Given the description of an element on the screen output the (x, y) to click on. 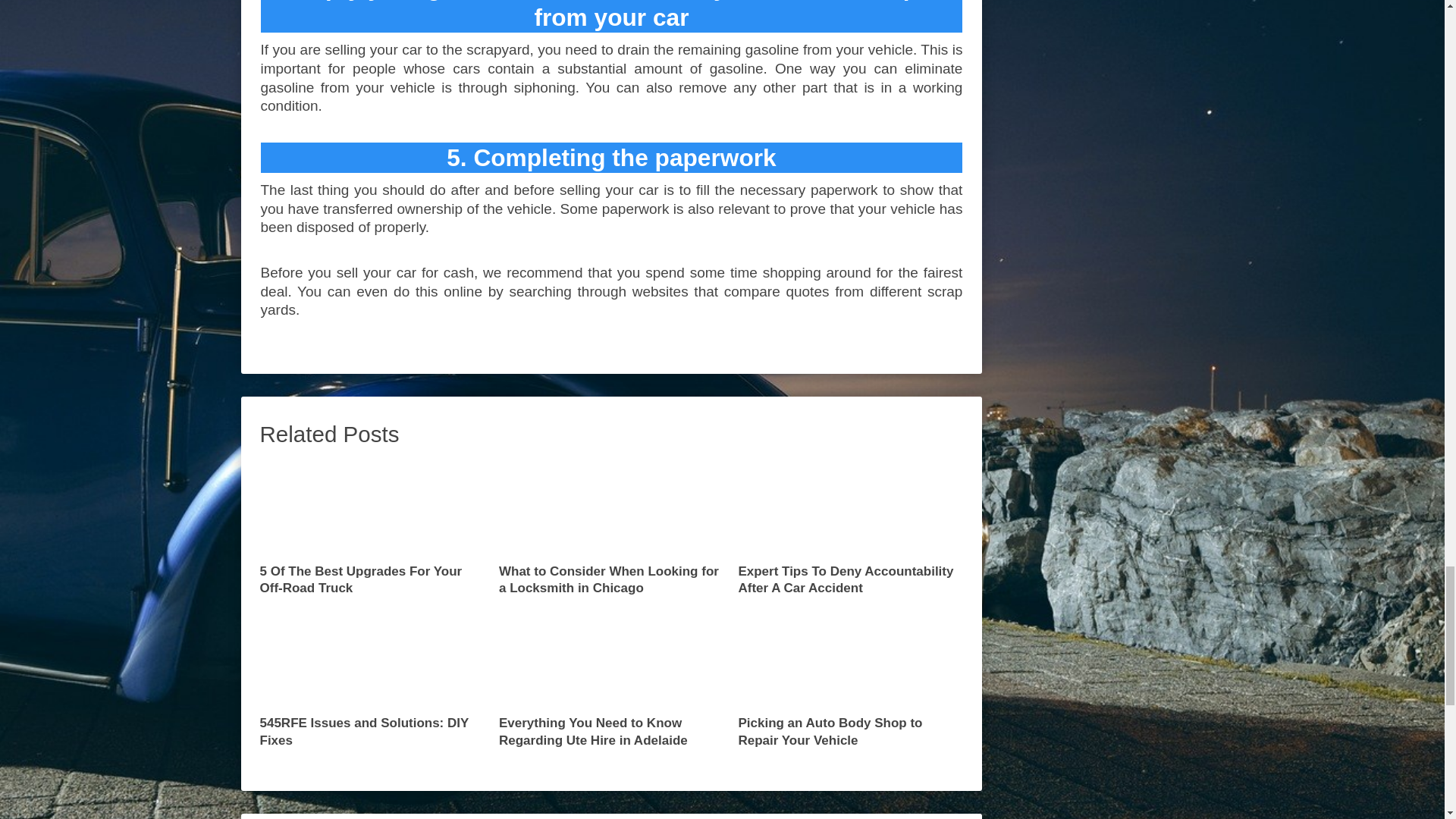
What to Consider When Looking for a Locksmith in Chicago (611, 529)
Expert Tips To Deny Accountability After A Car Accident (850, 529)
545RFE Issues and Solutions: DIY Fixes (371, 680)
Everything You Need to Know Regarding Ute Hire in Adelaide (611, 680)
5 Of The Best Upgrades For Your Off-Road Truck (371, 529)
